Given the description of an element on the screen output the (x, y) to click on. 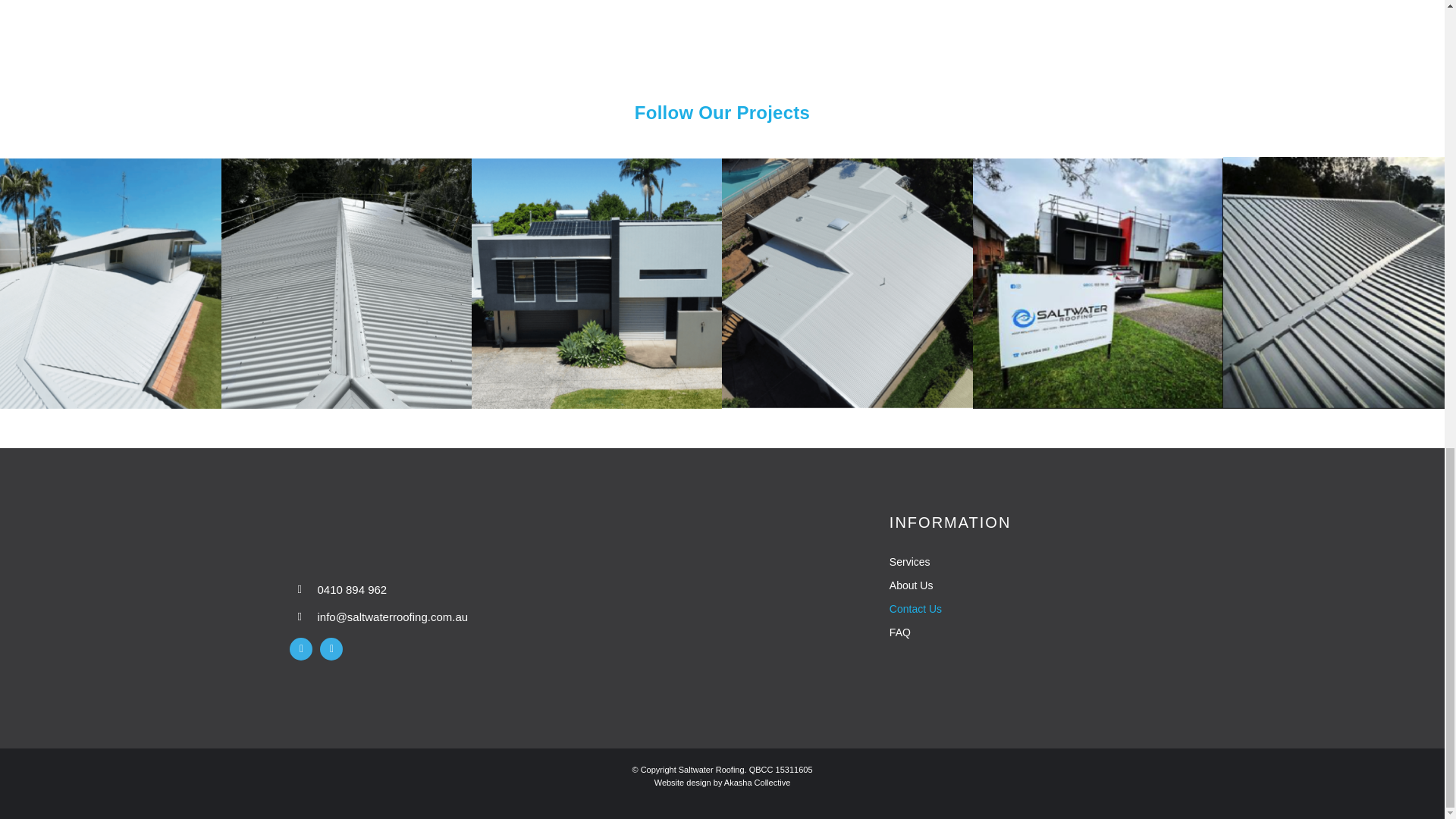
Akasha Collective (756, 782)
Services (1021, 562)
About Us (1021, 585)
Saltwater Roofing Sunshine Coast Queensland (440, 533)
0410 894 962 (352, 588)
Contact Us (1021, 609)
FAQ (1021, 632)
Follow Our Projects (721, 112)
